Given the description of an element on the screen output the (x, y) to click on. 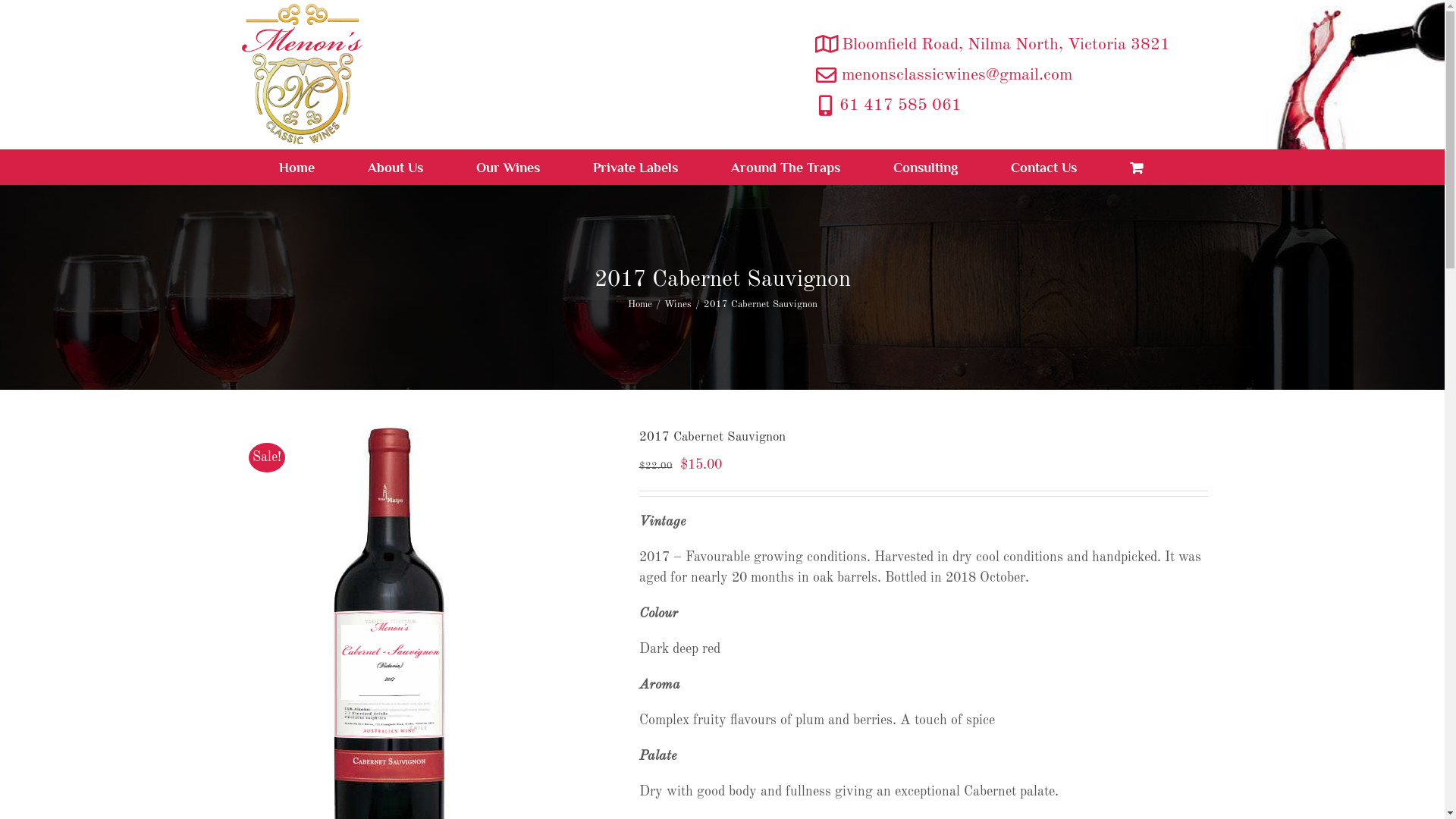
61 417 585 061 Element type: text (899, 105)
Contact Us Element type: text (1043, 167)
menonsclassicwines@gmail.com Element type: text (956, 74)
Private Labels Element type: text (634, 167)
Home Element type: text (296, 167)
Wines Element type: text (677, 304)
Our Wines Element type: text (507, 167)
Bloomfield Road, Nilma North, Victoria 3821 Element type: text (1005, 43)
About Us Element type: text (394, 167)
Consulting Element type: text (924, 167)
Home Element type: text (639, 304)
Around The Traps Element type: text (784, 167)
